Given the description of an element on the screen output the (x, y) to click on. 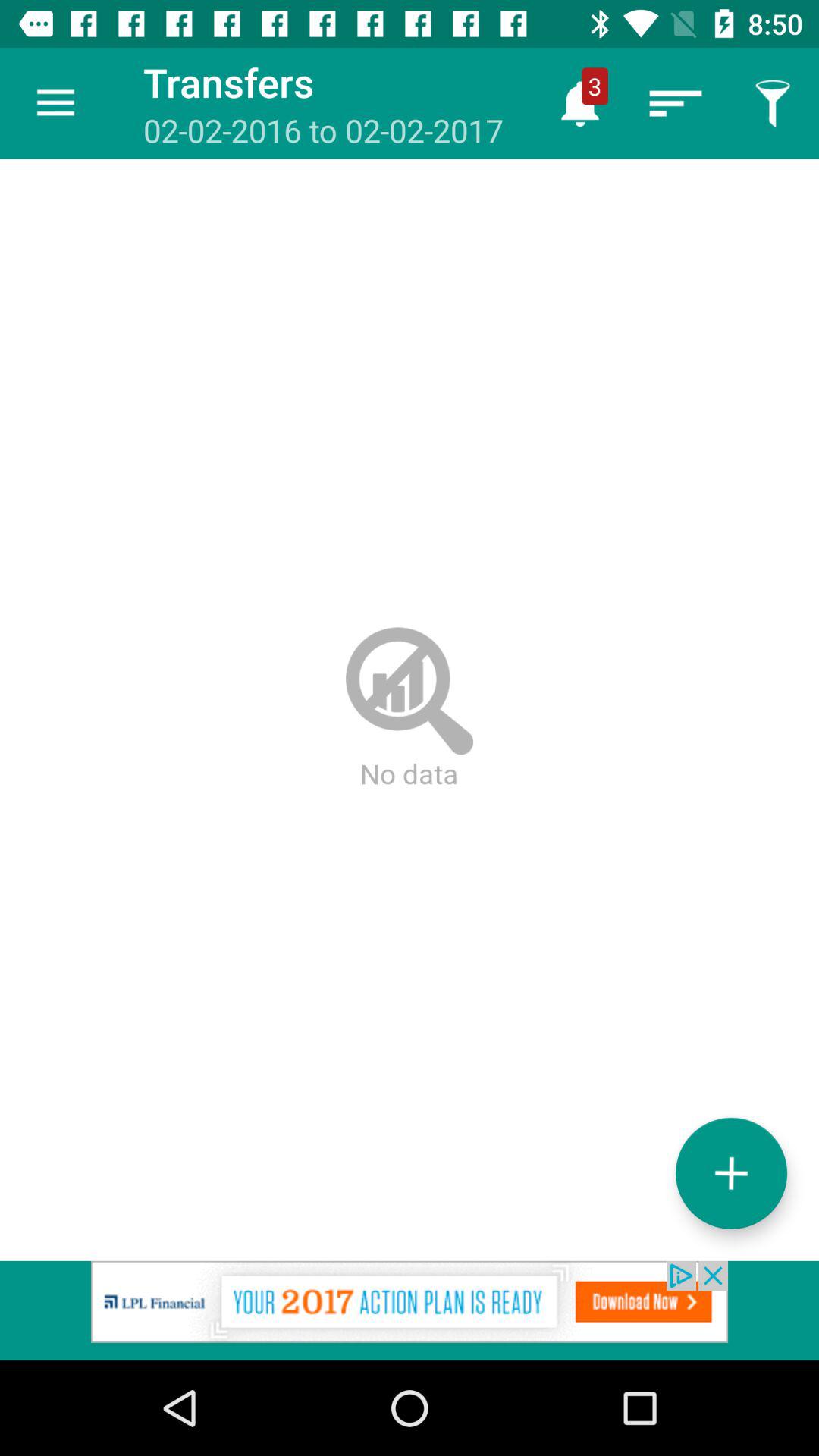
select the addvertisement (409, 1310)
